Given the description of an element on the screen output the (x, y) to click on. 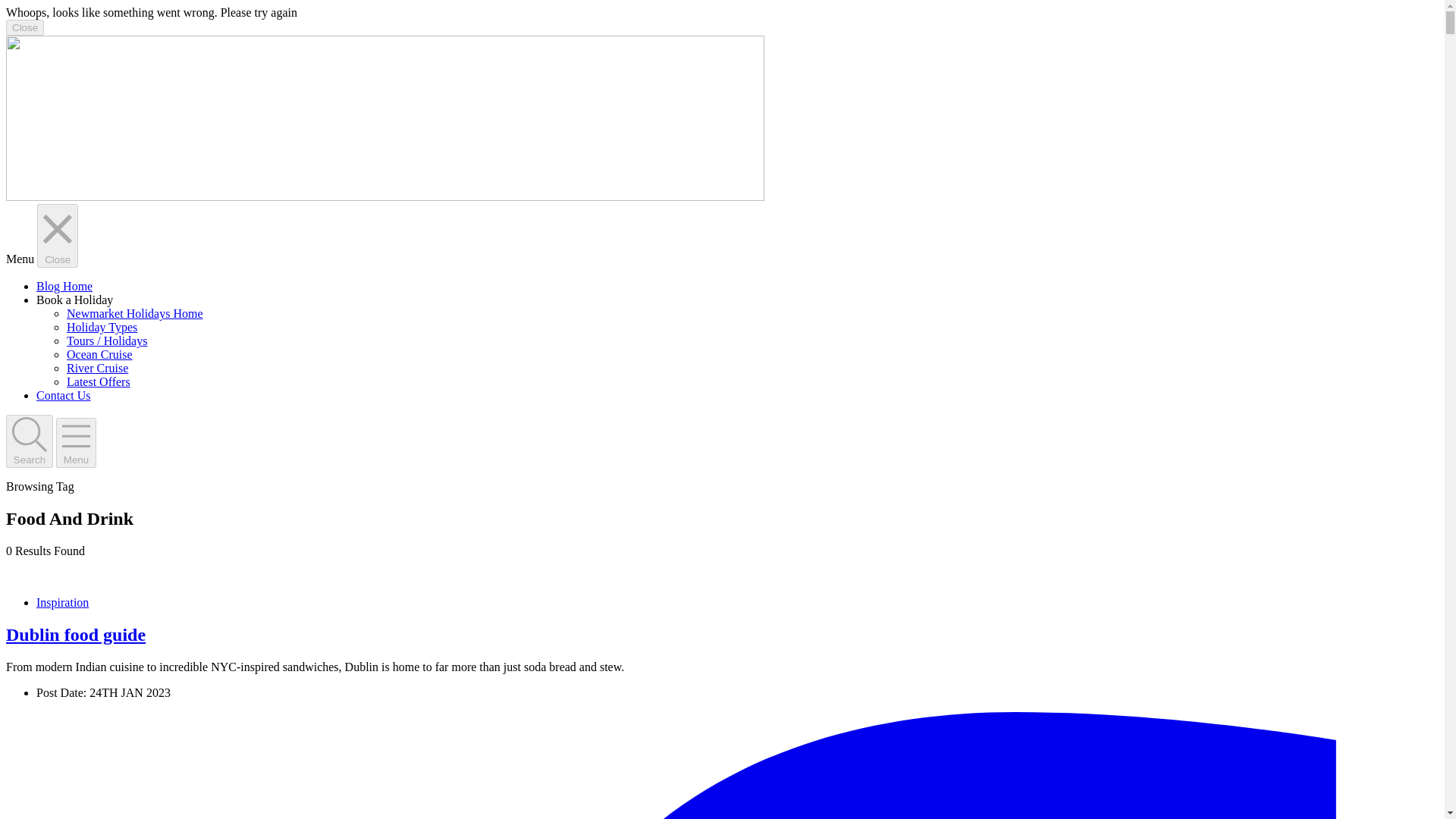
Latest Offers (98, 381)
Inspiration (62, 602)
Close (24, 27)
Holiday Types (101, 327)
Dublin food guide (75, 634)
Blog Home (64, 286)
Contact Us (63, 395)
Newmarket Holidays Home (134, 313)
Ocean Cruise (99, 354)
River Cruise (97, 367)
